Given the description of an element on the screen output the (x, y) to click on. 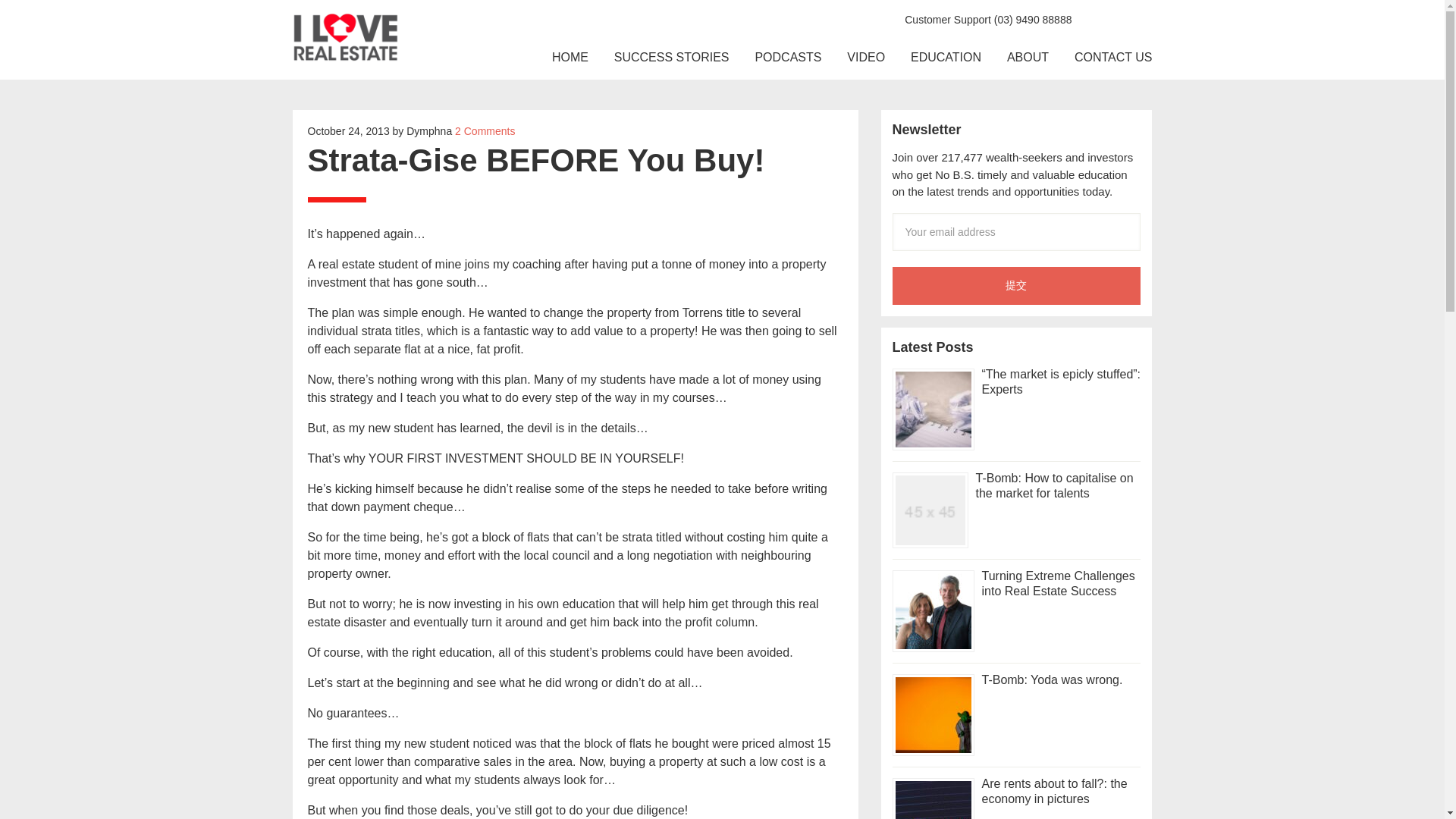
T-Bomb: Yoda was wrong. (1051, 679)
YouTube (1138, 17)
Facebook (1090, 17)
Facebook (1091, 17)
Twitter (1114, 17)
HOME (569, 57)
ABOUT (1027, 57)
Turning Extreme Challenges into Real Estate Success (1057, 582)
Are rents about to fall?: the economy in pictures (1053, 790)
CONTACT US (1113, 57)
SUCCESS STORIES (671, 57)
PODCASTS (787, 57)
EDUCATION (946, 57)
